Given the description of an element on the screen output the (x, y) to click on. 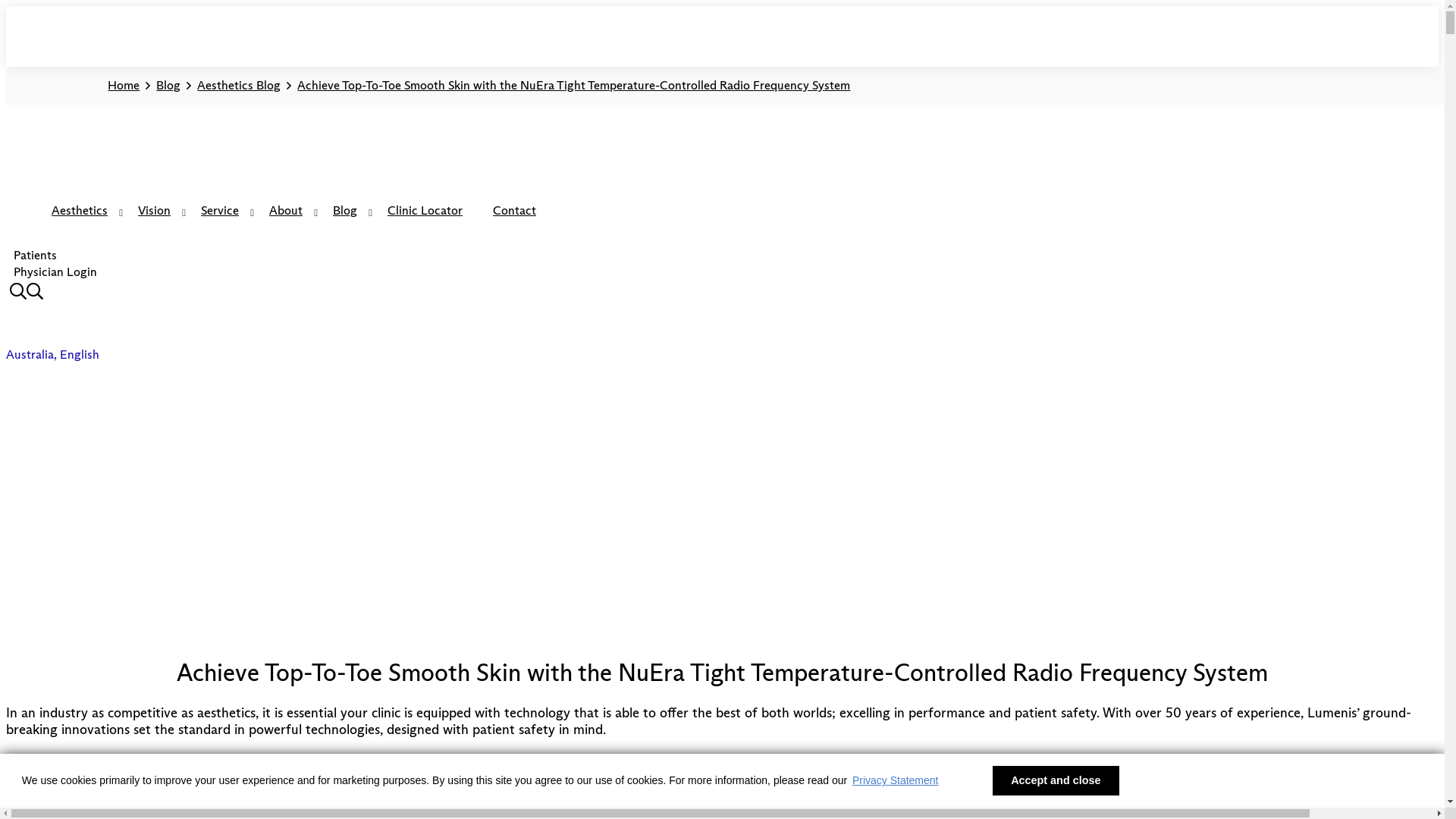
Blog Element type: text (168, 85)
Privacy Statement Element type: text (895, 779)
Australia, English Element type: text (54, 354)
Blog Element type: text (344, 212)
NuEra Tight Element type: text (371, 759)
Service Element type: text (219, 212)
Patients Element type: text (34, 254)
Home Element type: text (123, 85)
Contact Element type: text (514, 212)
About Element type: text (285, 212)
Accept and close Element type: text (1055, 780)
Physician Login Element type: text (55, 271)
Aesthetics Element type: text (79, 212)
Vision Element type: text (153, 212)
Aesthetics Blog Element type: text (238, 85)
Clinic Locator Element type: text (424, 212)
